Given the description of an element on the screen output the (x, y) to click on. 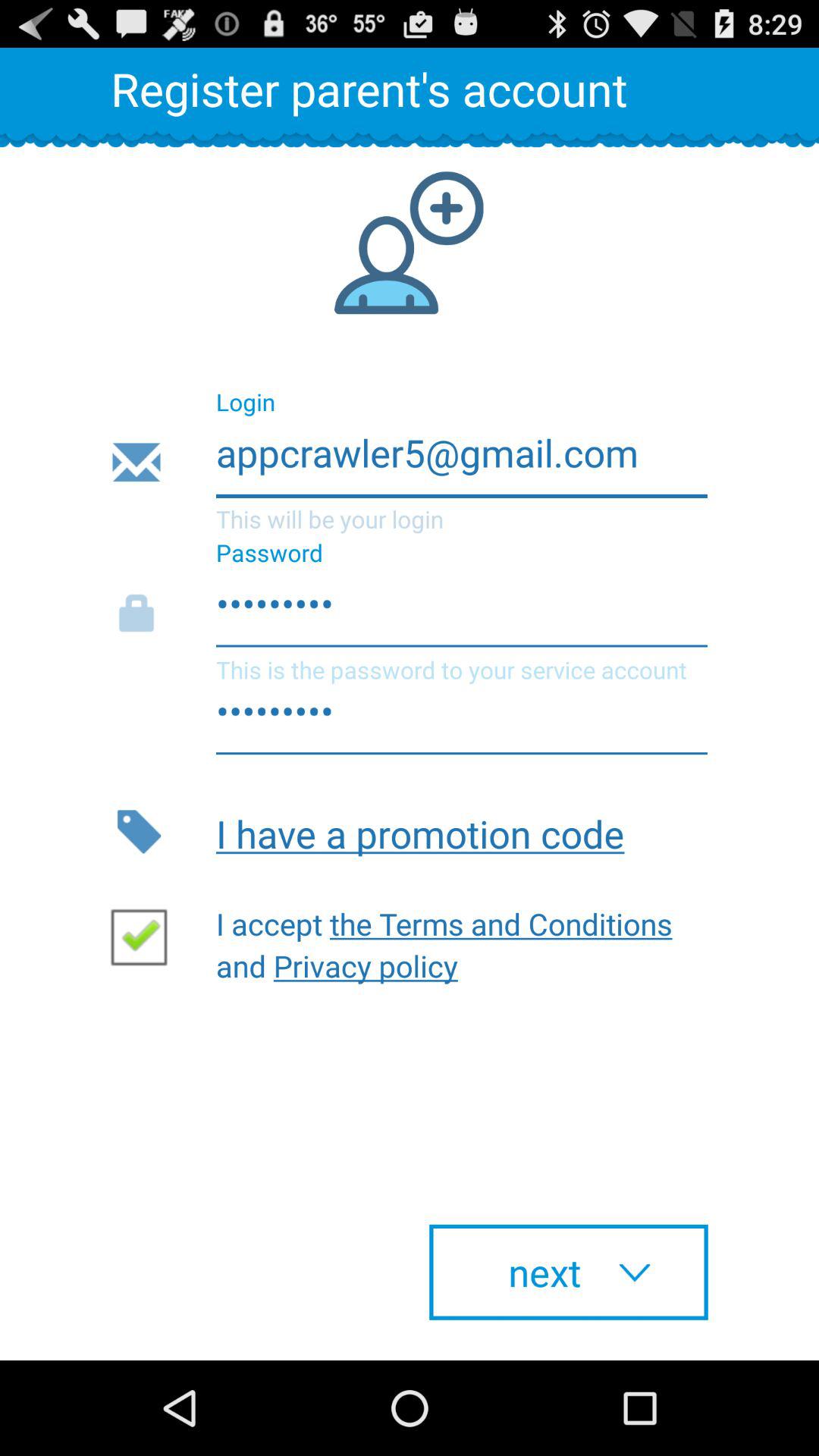
flip until appcrawler5@gmail.com item (408, 462)
